Given the description of an element on the screen output the (x, y) to click on. 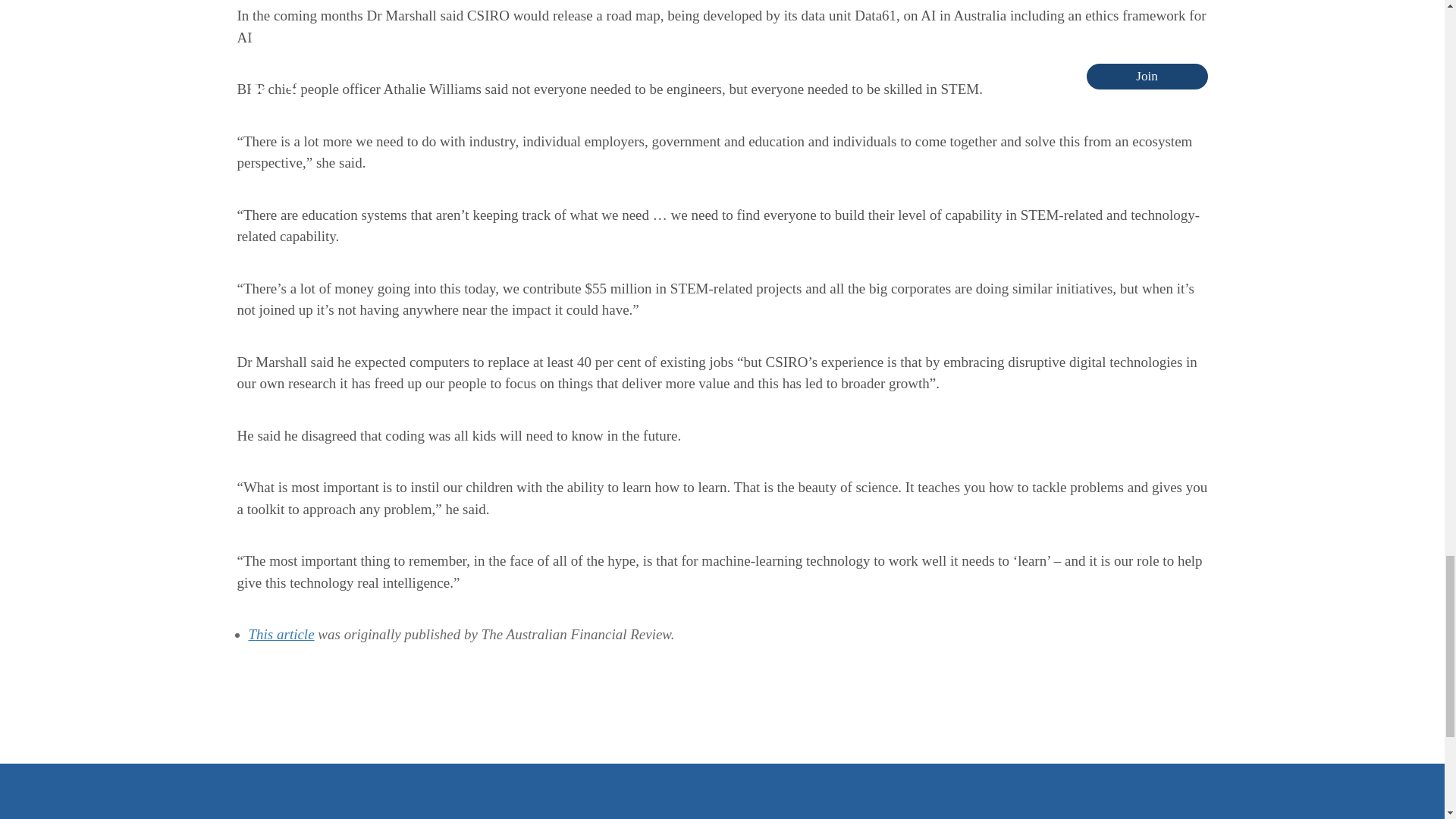
This article (281, 634)
